Given the description of an element on the screen output the (x, y) to click on. 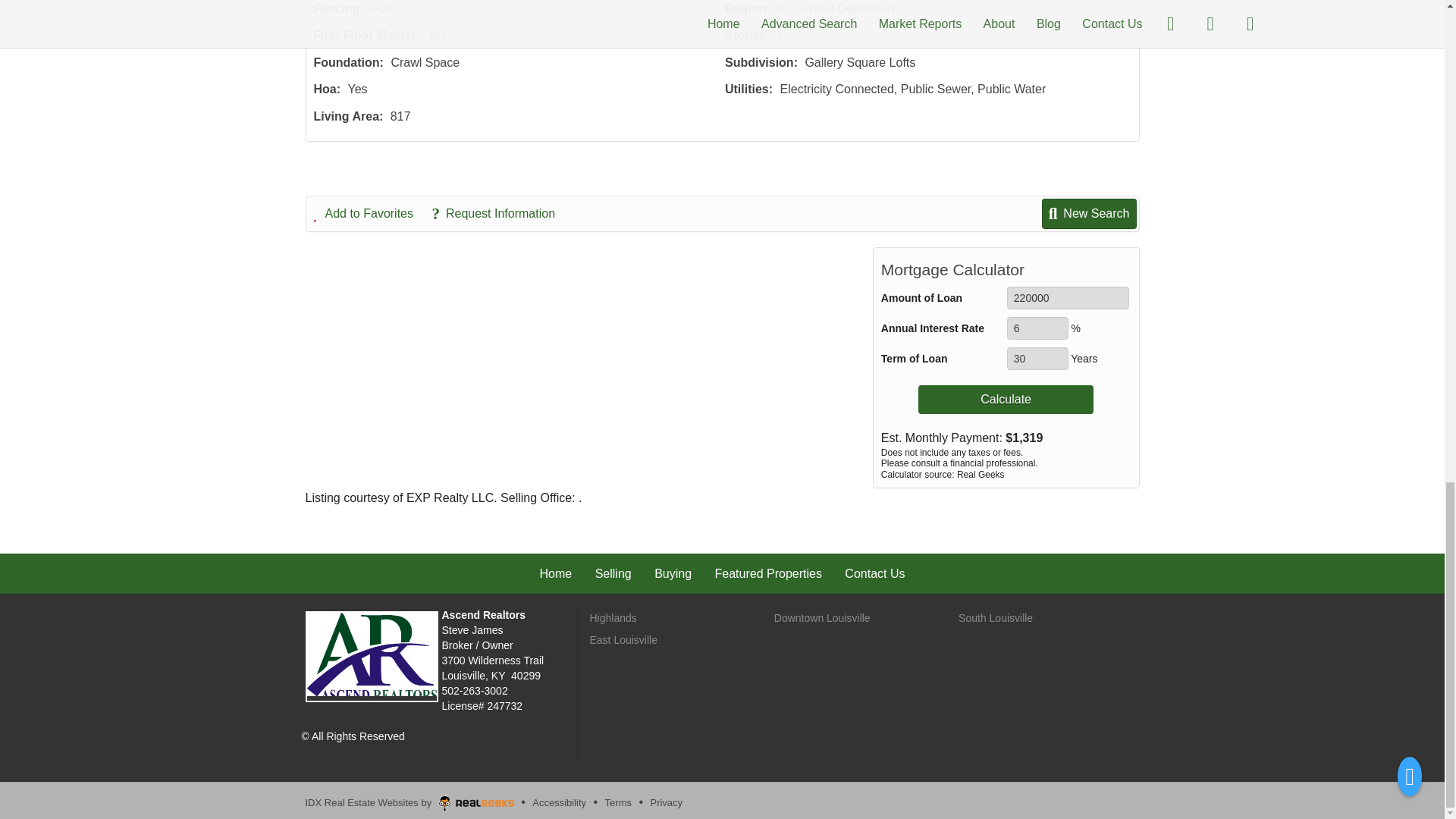
30 (1037, 358)
6 (1037, 327)
220000 (1068, 297)
